Given the description of an element on the screen output the (x, y) to click on. 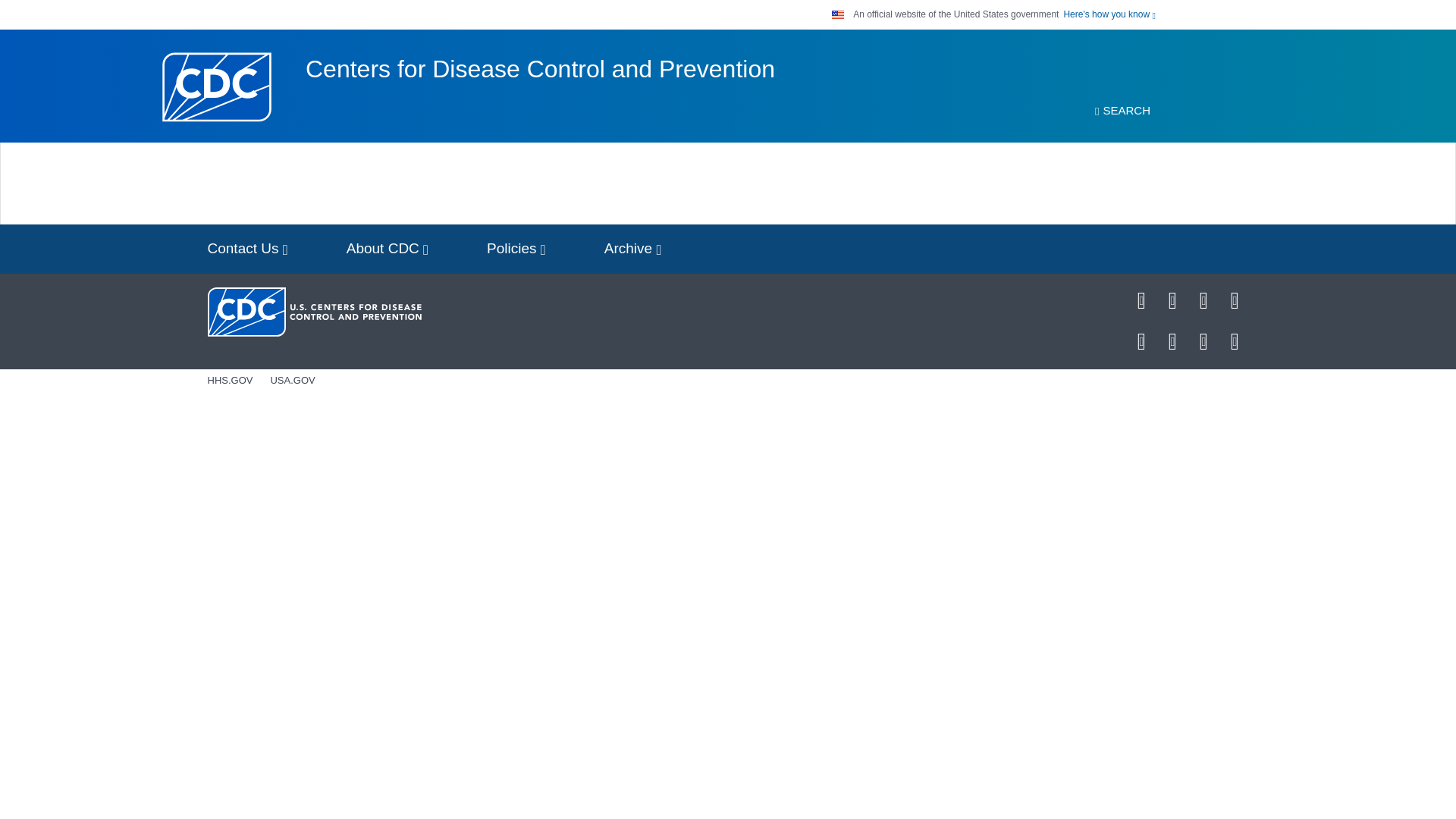
Here's how you know (1108, 14)
Centers for Disease Control and Prevention (539, 68)
Archive (633, 248)
SEARCH (1122, 110)
About CDC (387, 248)
Contact Us (247, 248)
Policies (516, 248)
